Given the description of an element on the screen output the (x, y) to click on. 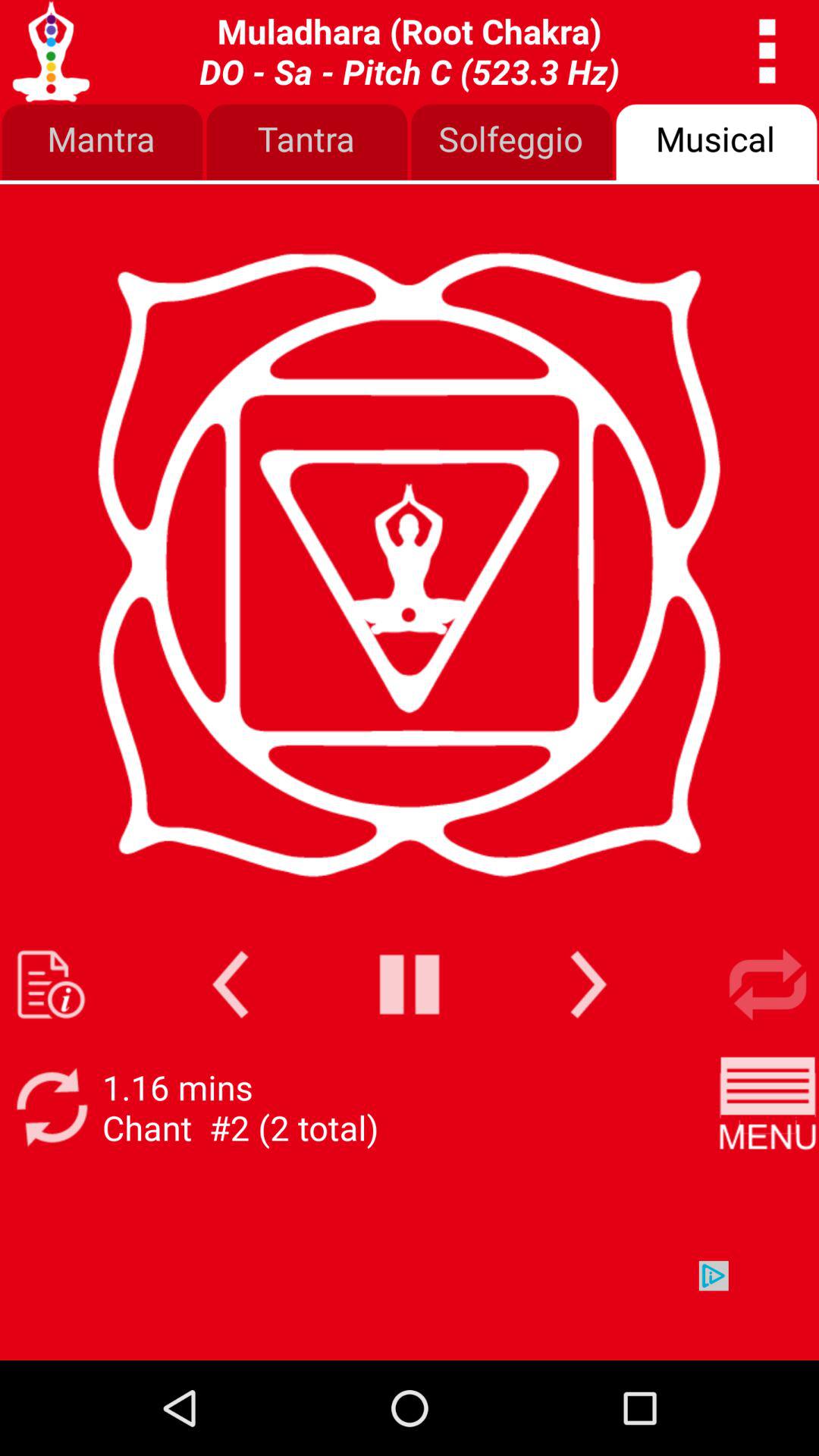
turn on icon to the right of the 1 17 mins item (767, 1107)
